Given the description of an element on the screen output the (x, y) to click on. 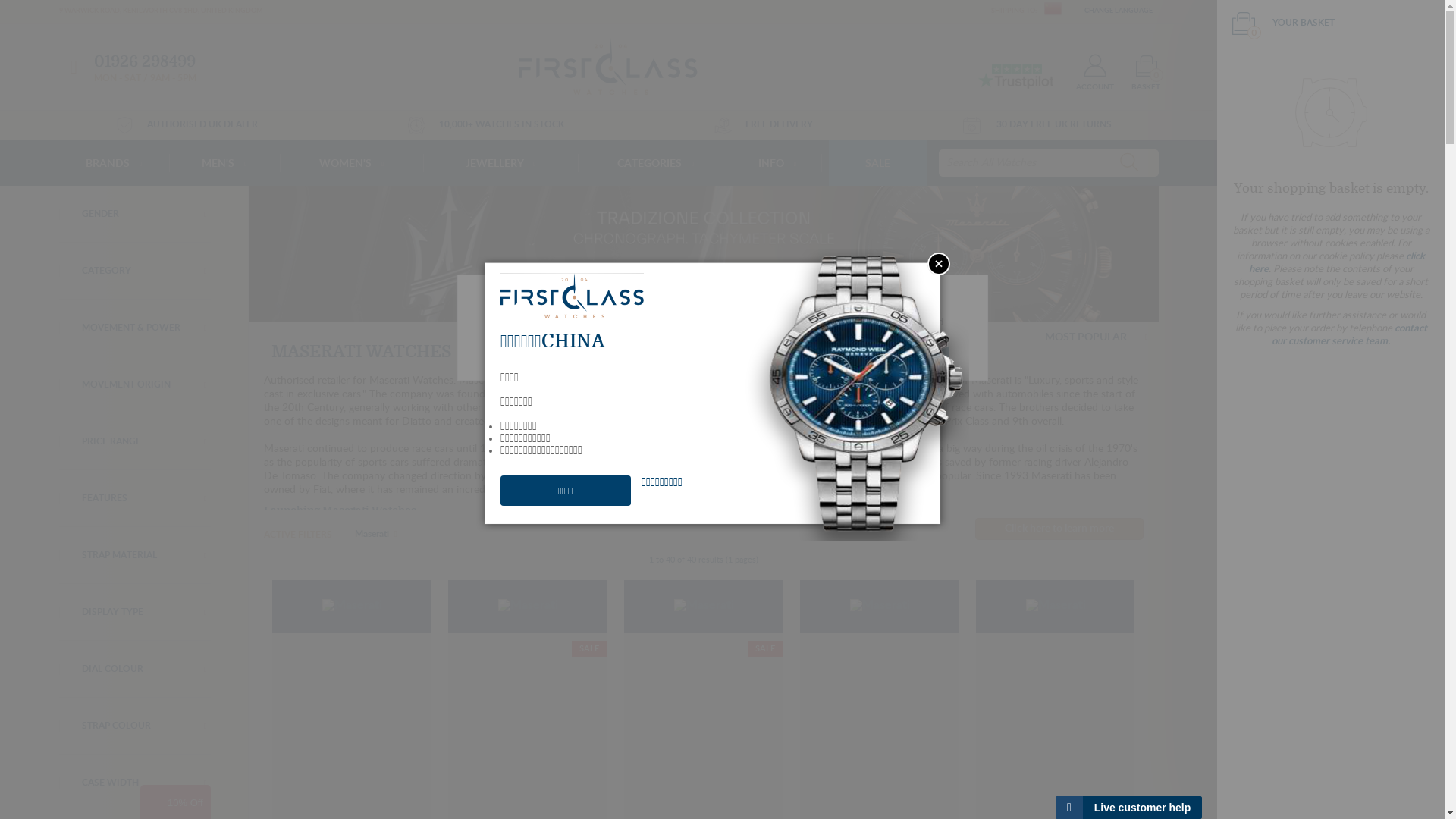
AUTHORISED UK DEALER Element type: text (179, 123)
0
YOUR BASKET Element type: text (1283, 22)
WOMEN'S Element type: text (351, 162)
FREE DELIVERY Element type: text (756, 123)
click here Element type: text (1336, 262)
Maserati Element type: text (375, 533)
Maserati Element type: hover (1055, 607)
Accept all Element type: text (916, 356)
SALE Element type: text (877, 162)
privacy policy Element type: text (698, 337)
MEN'S Element type: text (224, 162)
 CHANGE LANGUAGE Element type: text (1117, 11)
30 DAY FREE UK RETURNS Element type: text (1030, 123)
Maserati Element type: hover (528, 607)
Maserati Element type: hover (880, 607)
JEWELLERY Element type: text (500, 162)
BRANDS Element type: text (114, 162)
Maserati Element type: hover (704, 607)
Click here to learn more Element type: text (1059, 528)
contact our customer service team. Element type: text (1349, 334)
ACCOUNT Element type: text (1082, 72)
10,000+ WATCHES IN STOCK Element type: text (479, 123)
BASKET
0 Element type: text (1133, 73)
INFO Element type: text (777, 162)
Manage cookies Element type: text (827, 356)
Maserati Element type: hover (352, 607)
CATEGORIES Element type: text (655, 162)
